Given the description of an element on the screen output the (x, y) to click on. 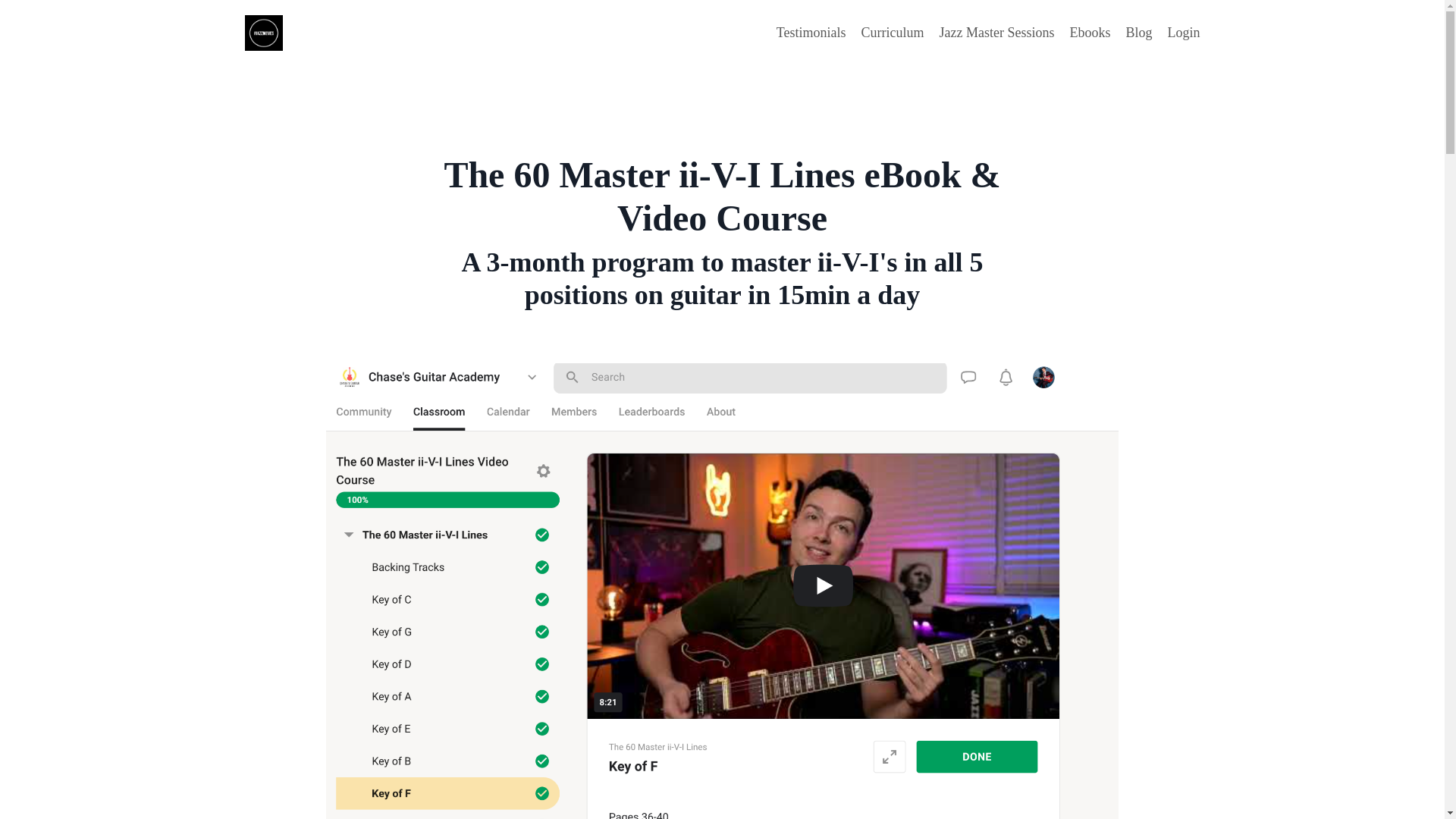
Blog (1138, 33)
Jazz Master Sessions (996, 33)
Curriculum (892, 33)
Login (1183, 32)
Ebooks (1088, 33)
Testimonials (810, 33)
